Given the description of an element on the screen output the (x, y) to click on. 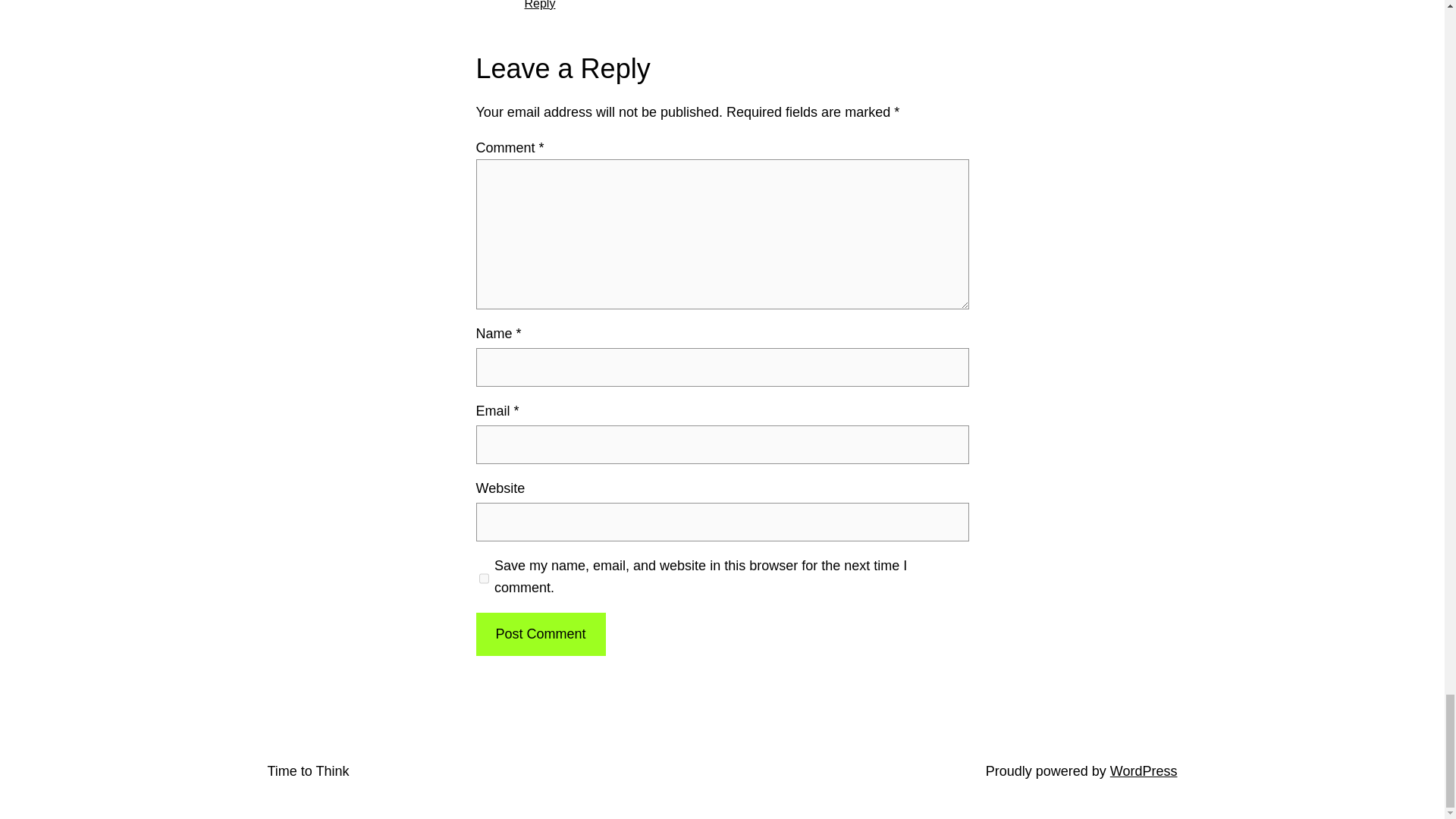
Post Comment (540, 634)
WordPress (1143, 770)
Time to Think (307, 770)
Post Comment (540, 634)
Reply (540, 4)
